Given the description of an element on the screen output the (x, y) to click on. 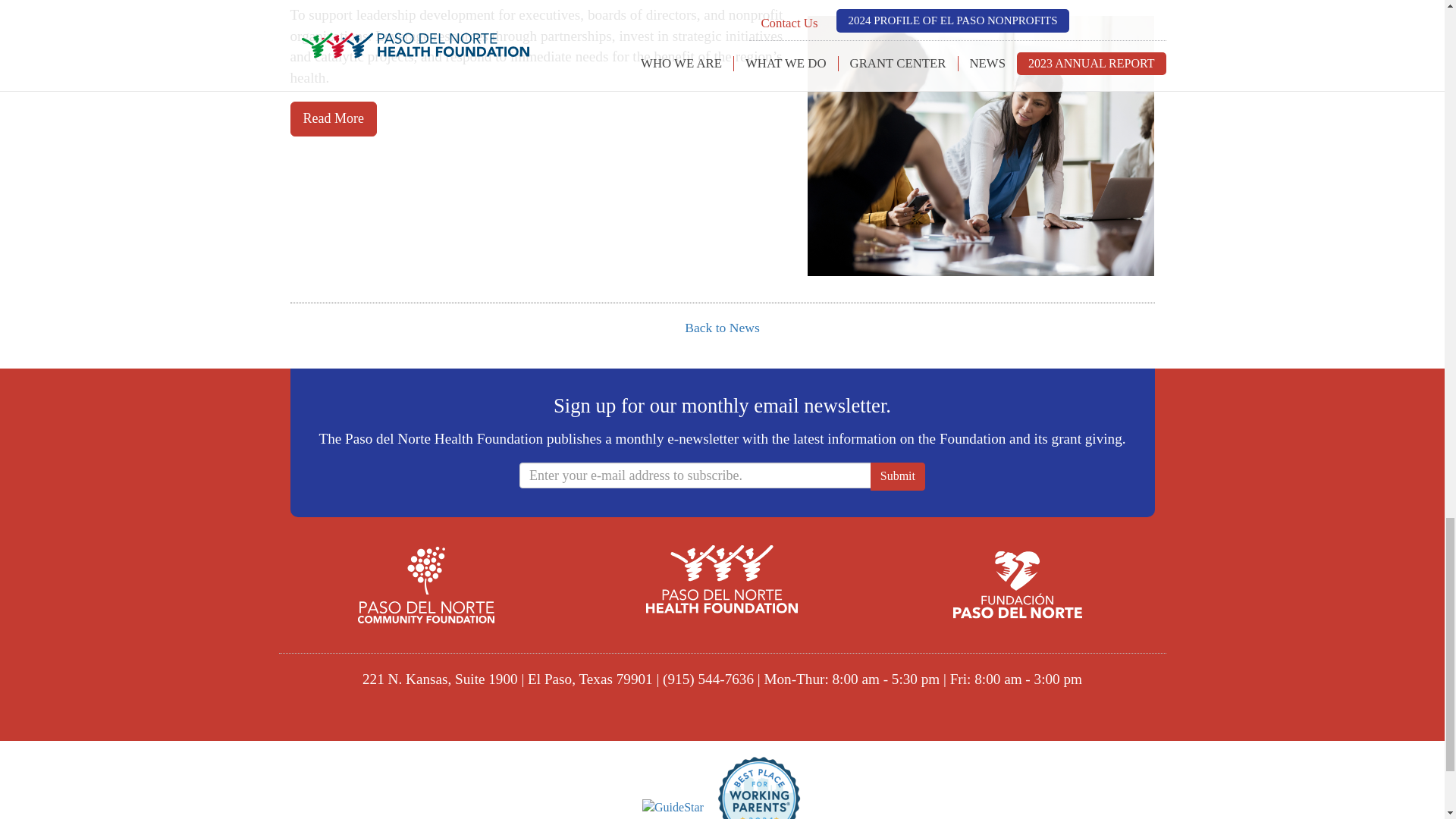
translation missing: en.submit (897, 475)
